Given the description of an element on the screen output the (x, y) to click on. 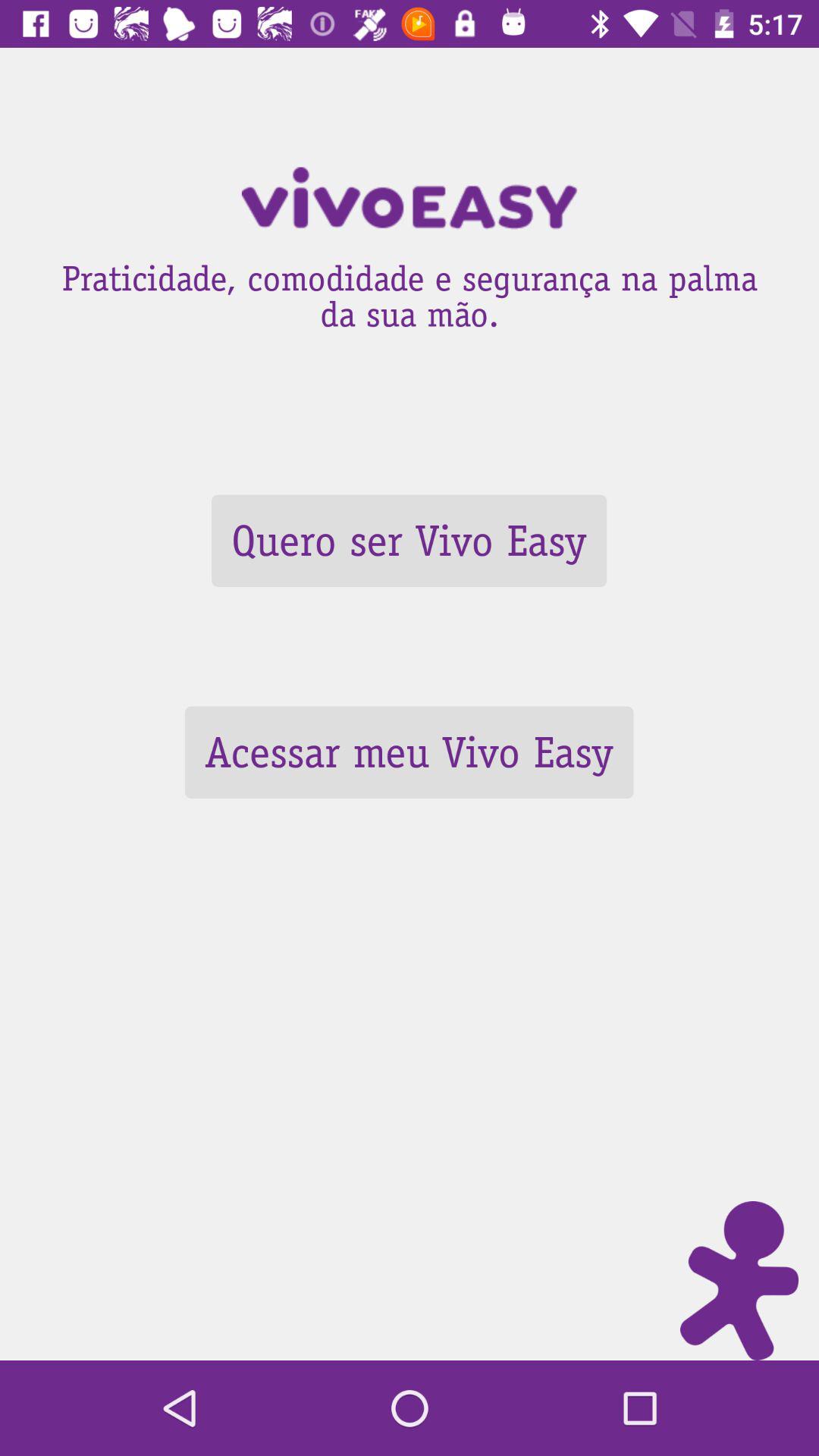
turn on the icon below praticidade comodidade e icon (408, 540)
